Given the description of an element on the screen output the (x, y) to click on. 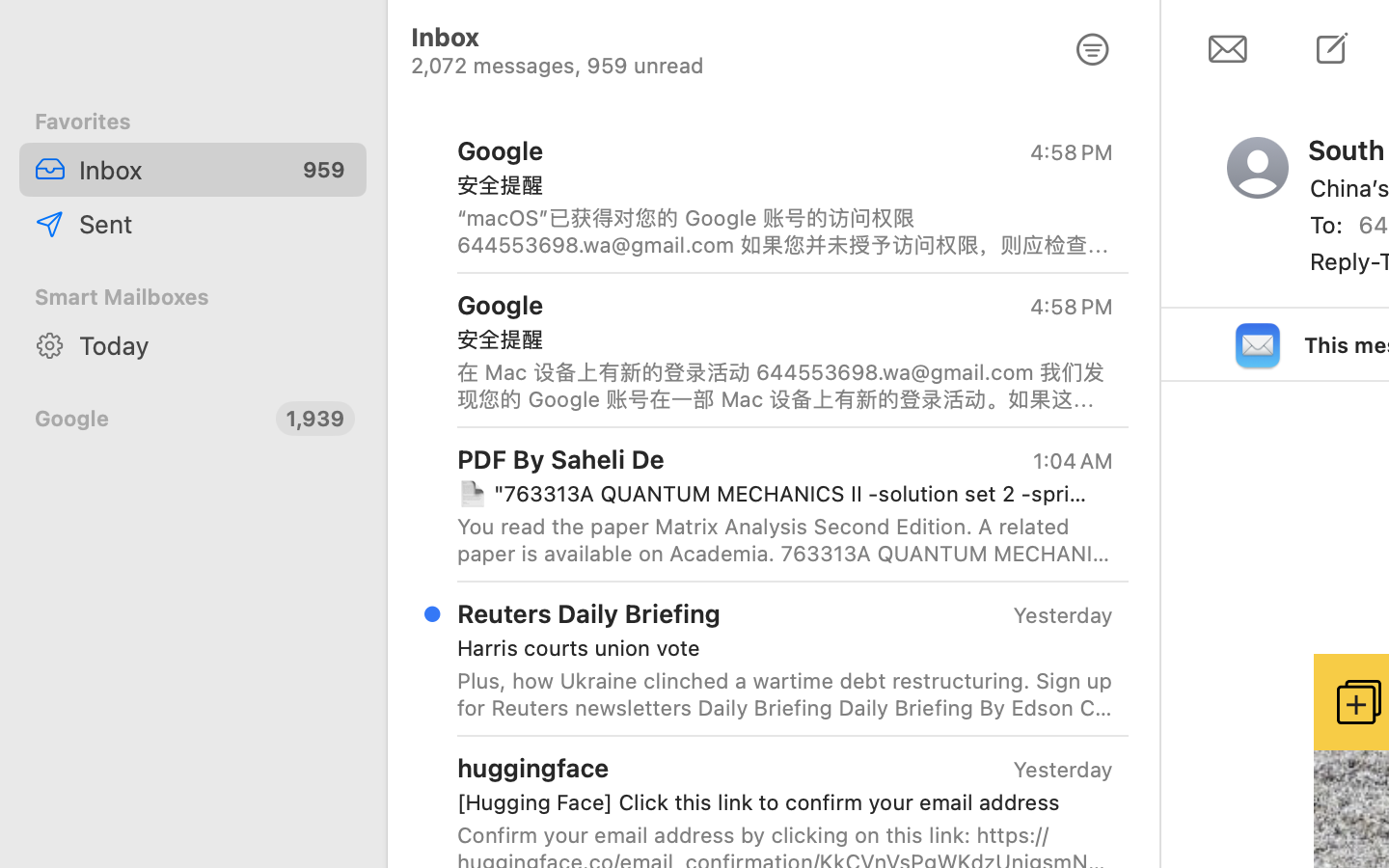
Favorites Element type: AXStaticText (192, 121)
“macOS”已获得对您的 Google 账号的访问权限 644553698.wa@gmail.com 如果您并未授予访问权限，则应检查此活动，并确保您的账号安全。 查看活动 您也可以访问以下网址查看安全性活动： https://myaccount.google.com/notifications 我们向您发送这封电子邮件，目的是让您了解关于您的 Google 账号和服务的重大变化。 © 2024 Google LLC, 1600 Amphitheatre Parkway, Mountain View, CA 94043, USA Element type: AXStaticText (784, 231)
